Given the description of an element on the screen output the (x, y) to click on. 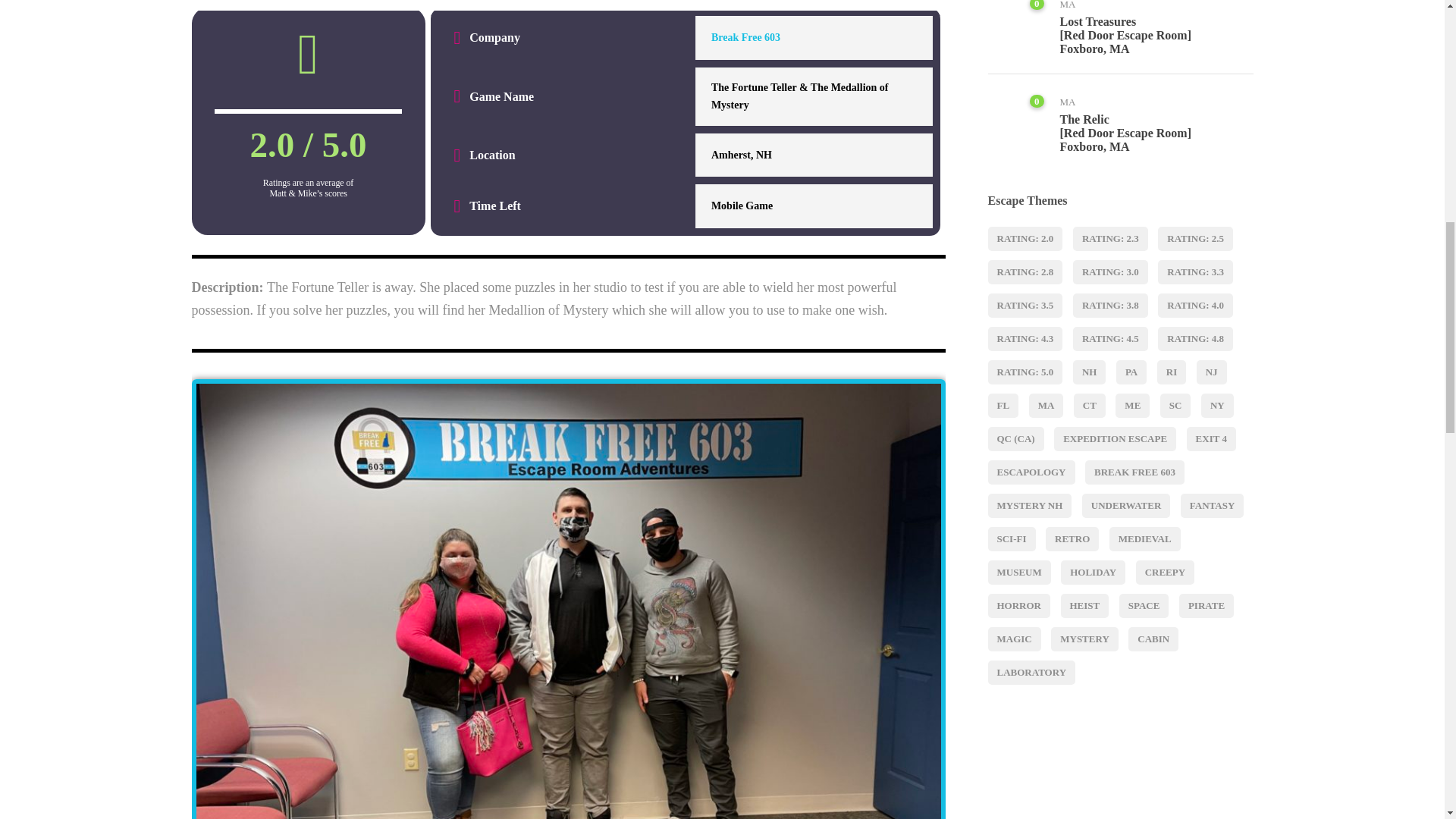
Break Free 603 (745, 37)
